Given the description of an element on the screen output the (x, y) to click on. 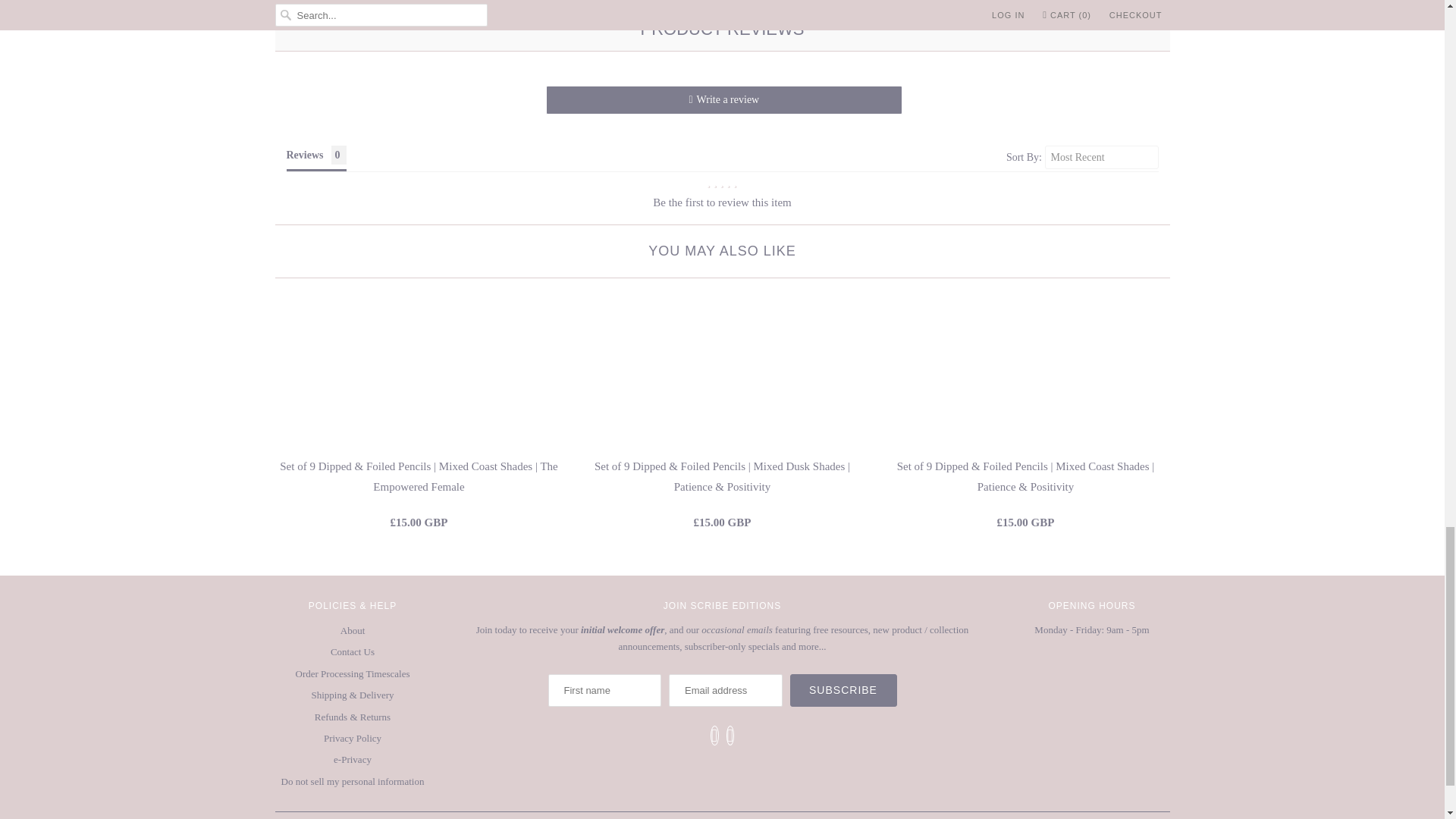
Subscribe (843, 690)
